Given the description of an element on the screen output the (x, y) to click on. 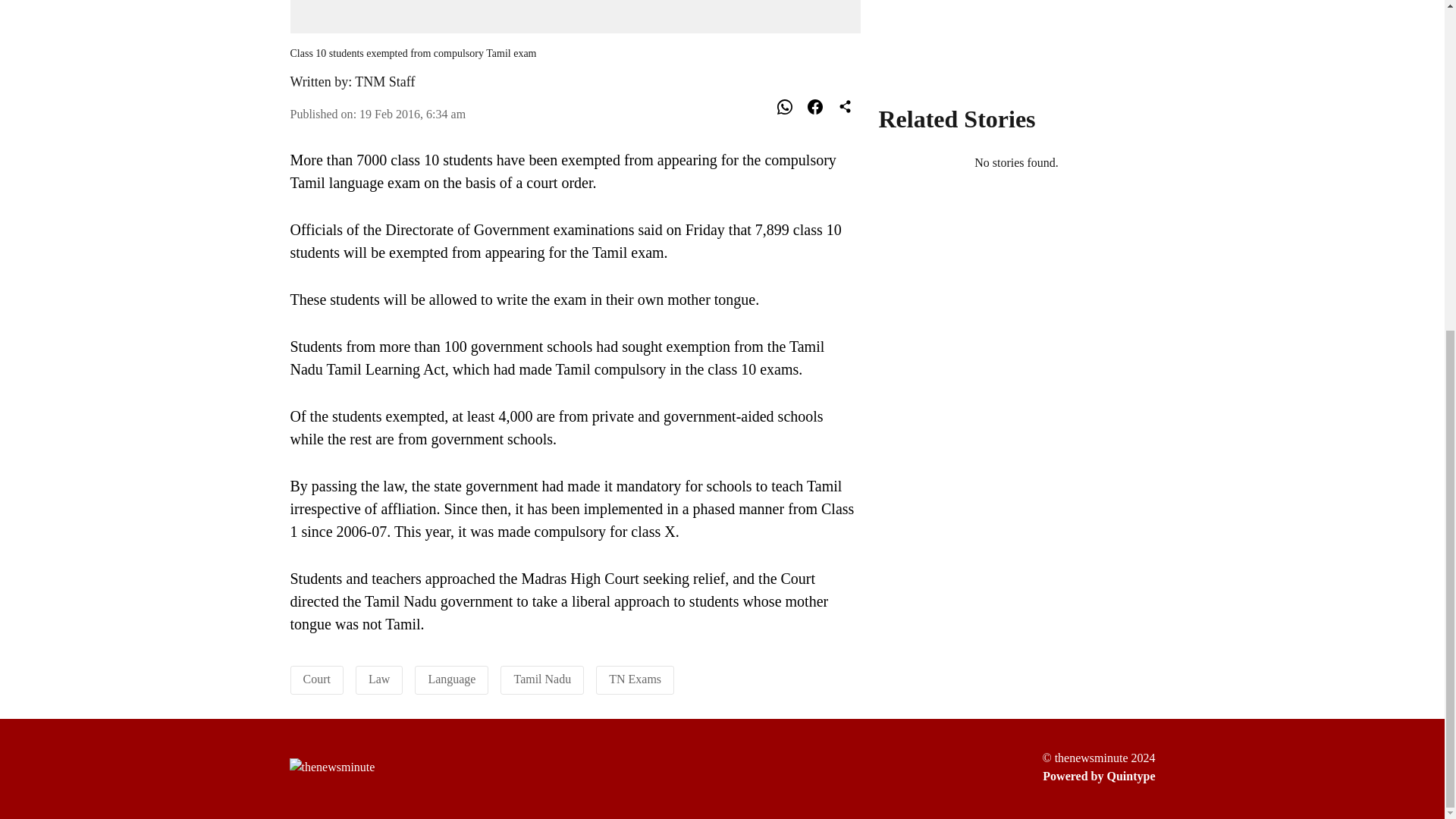
Court (316, 678)
TNM Staff (384, 81)
2016-02-19 06:34 (412, 113)
TN Exams (634, 678)
Law (379, 678)
Powered by Quintype (1098, 776)
Language (452, 678)
Tamil Nadu (541, 678)
